Given the description of an element on the screen output the (x, y) to click on. 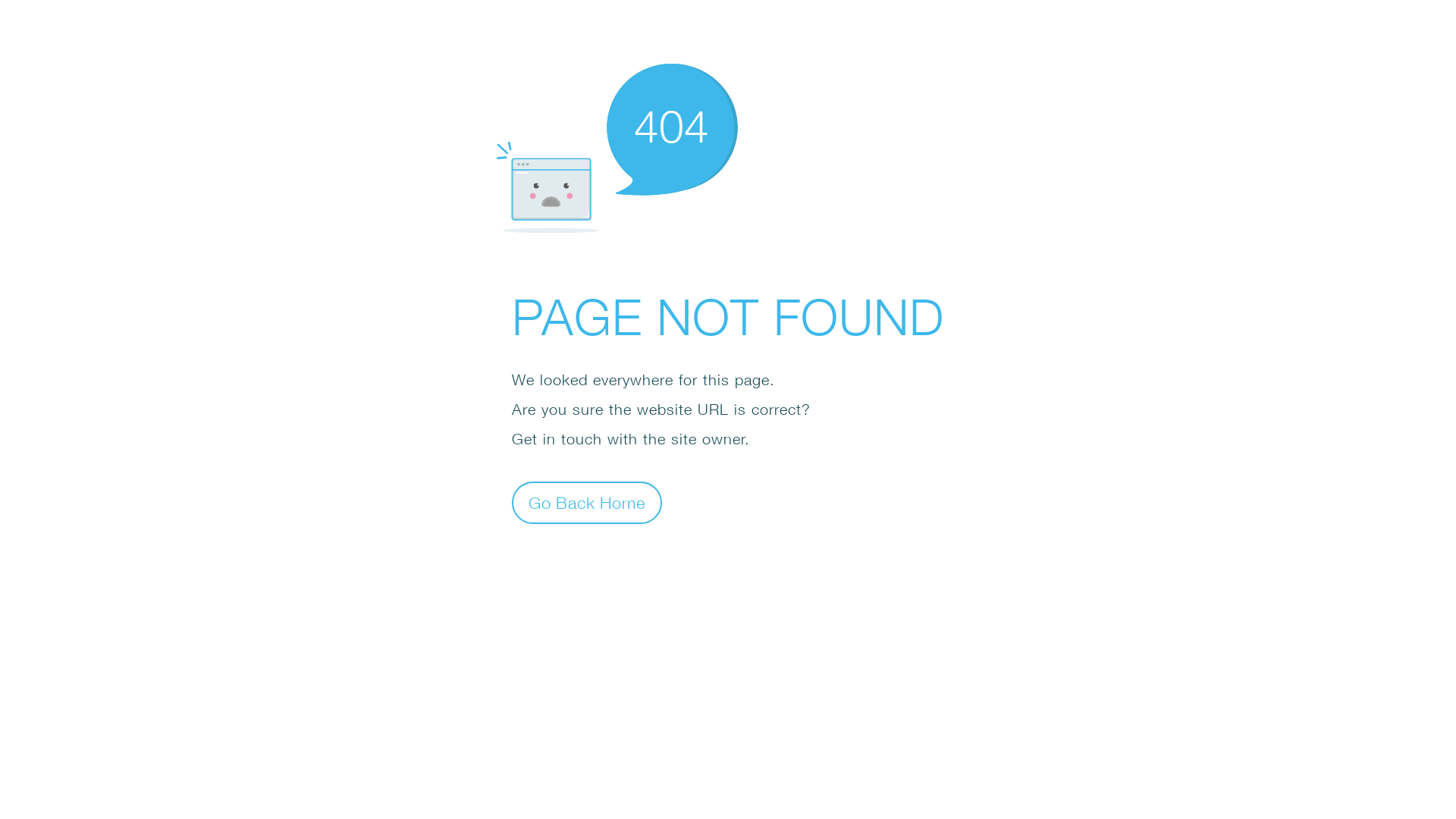
Go Back Home Element type: text (586, 502)
